Given the description of an element on the screen output the (x, y) to click on. 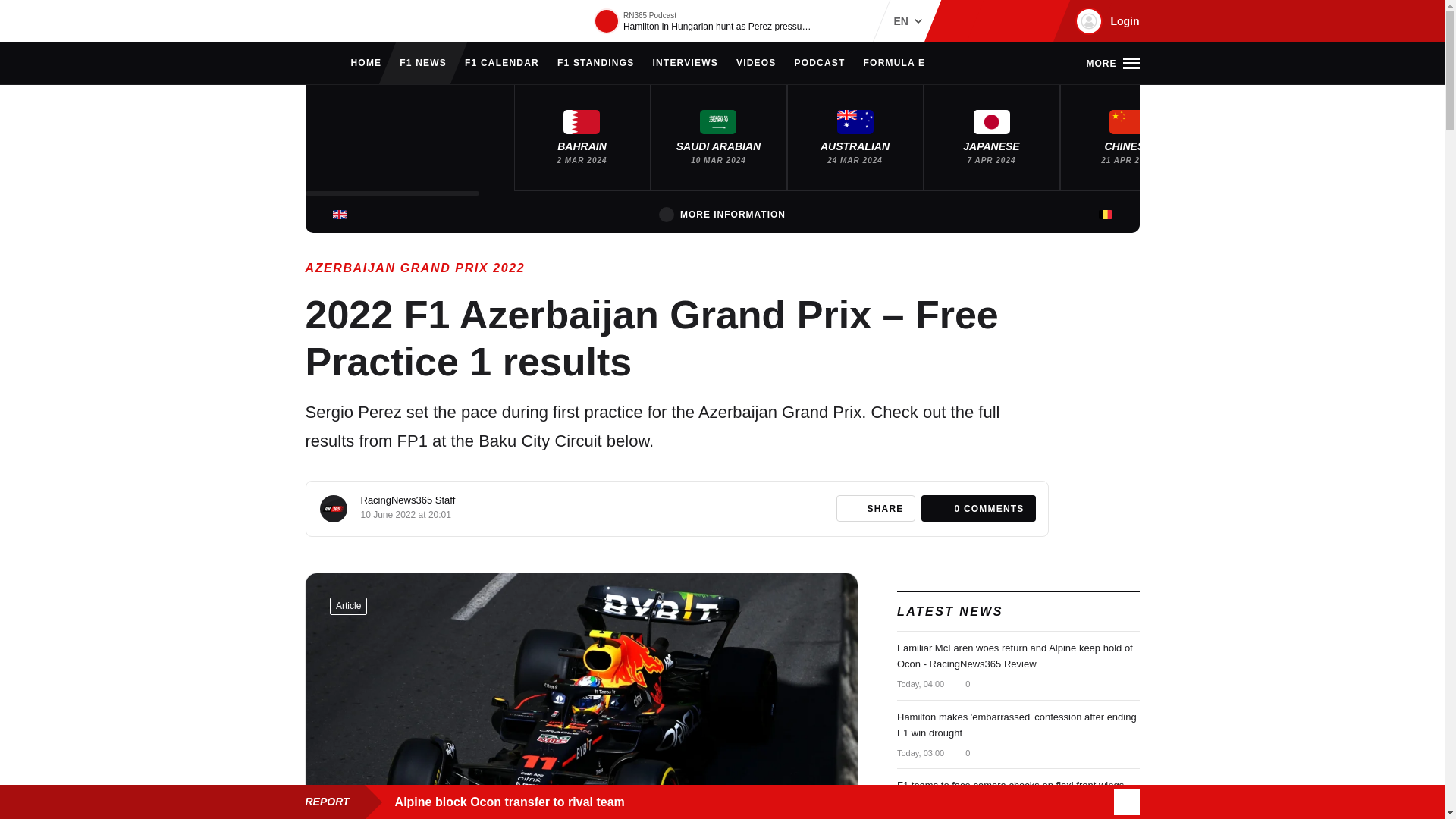
Login (1104, 21)
Friday, 10 June 2022 at 20:01 (406, 514)
F1 NEWS (422, 63)
RacingNews365 on X (1010, 21)
RacingNews365 (350, 21)
F1 CALENDAR (501, 63)
MORE INFORMATION (722, 214)
RacingNews365 on YouTube (1034, 21)
VIDEOS (756, 63)
PODCAST (818, 63)
F1 STANDINGS (595, 63)
RacingNews365 on Facebook (986, 21)
RacingNews365 on Instagram (962, 21)
FORMULA E (894, 63)
INTERVIEWS (684, 63)
